Given the description of an element on the screen output the (x, y) to click on. 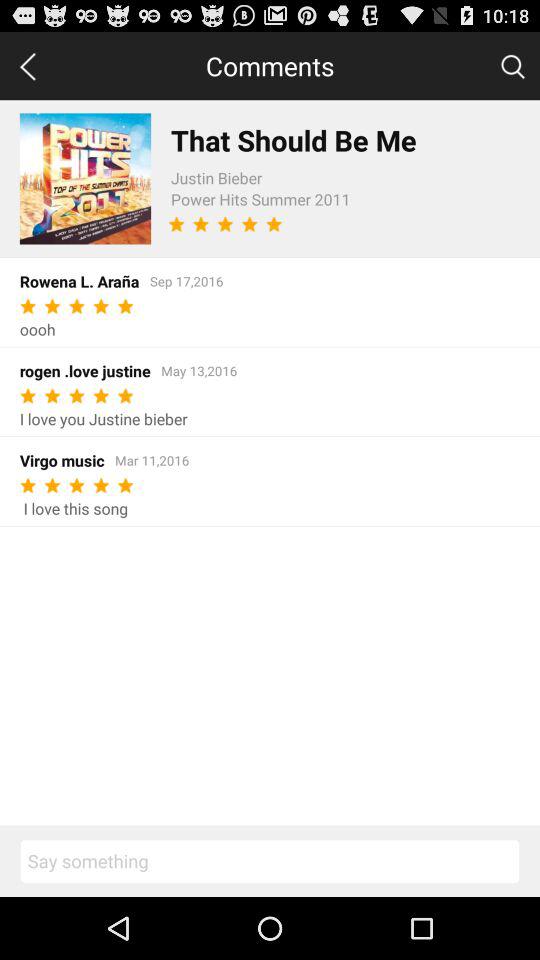
search (512, 65)
